Given the description of an element on the screen output the (x, y) to click on. 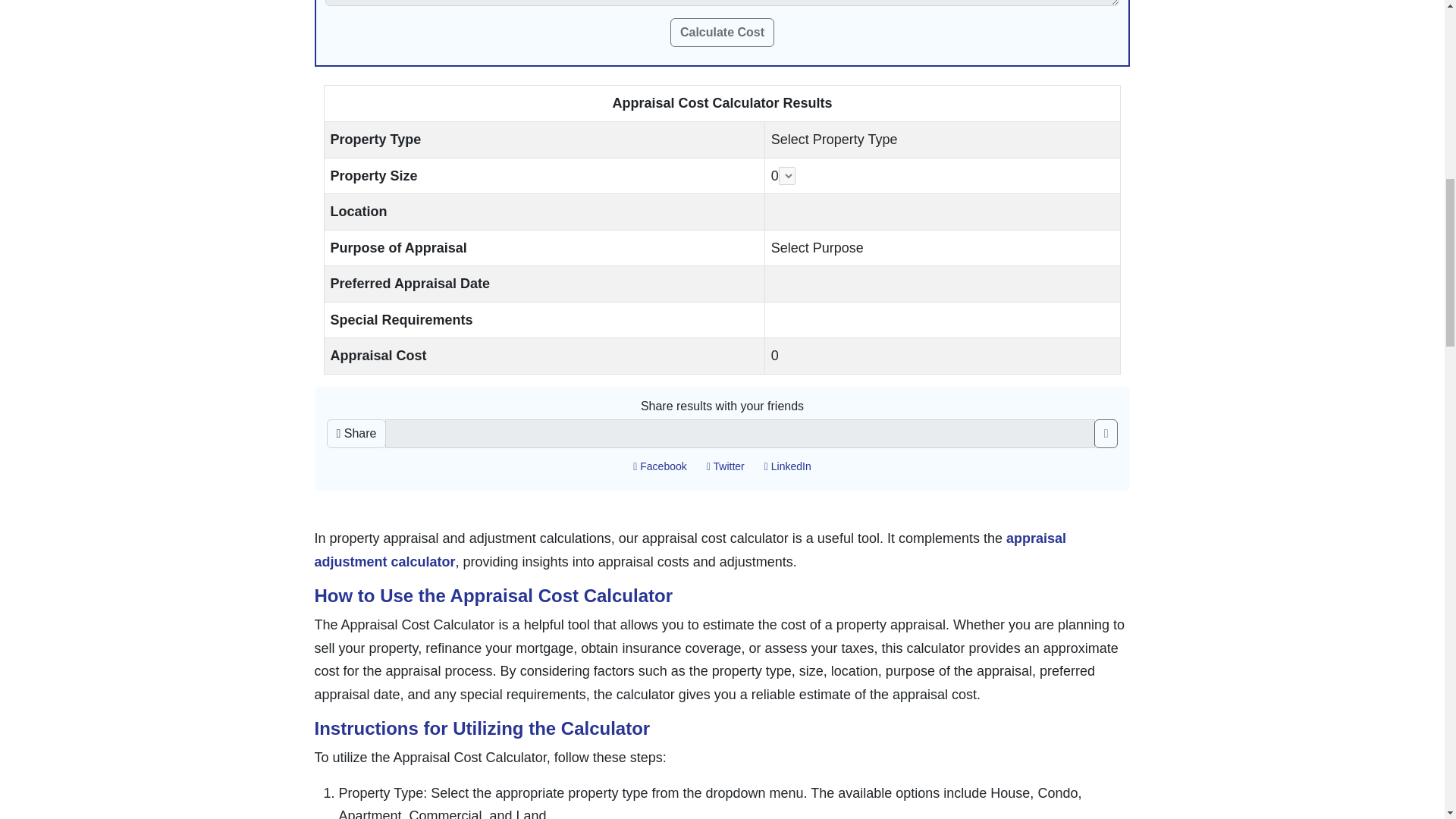
appraisal adjustment calculator (689, 549)
 Facebook (660, 466)
 Twitter (725, 466)
Calculate Cost (721, 32)
 LinkedIn (787, 466)
